Given the description of an element on the screen output the (x, y) to click on. 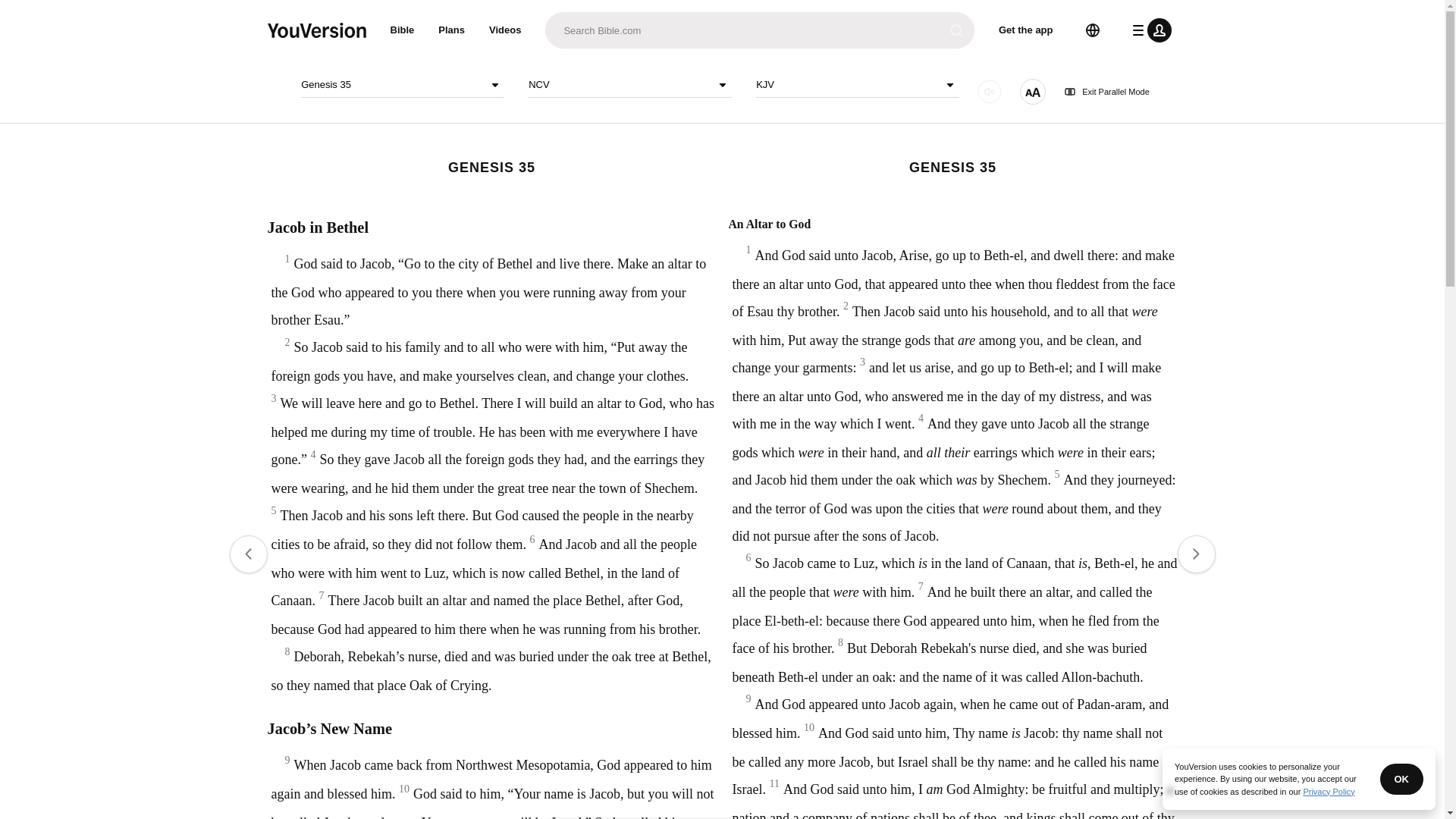
Bible (401, 29)
Videos (504, 29)
Get the app (1026, 29)
NCV (630, 84)
Genesis 35 (402, 84)
Plans (451, 29)
Exit Parallel Mode (1107, 91)
KJV (857, 84)
